Given the description of an element on the screen output the (x, y) to click on. 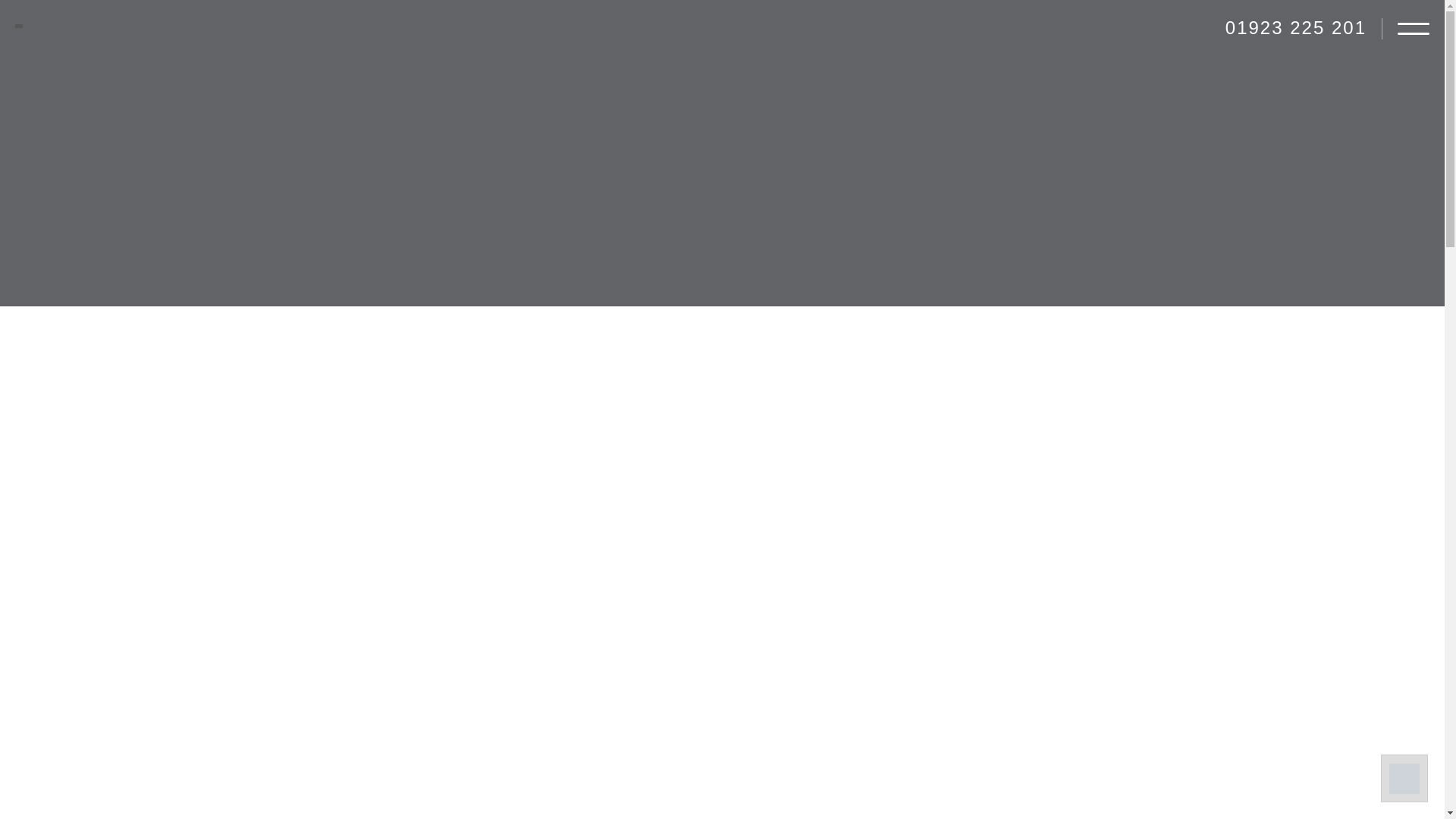
01923 225 201 (1296, 27)
